Given the description of an element on the screen output the (x, y) to click on. 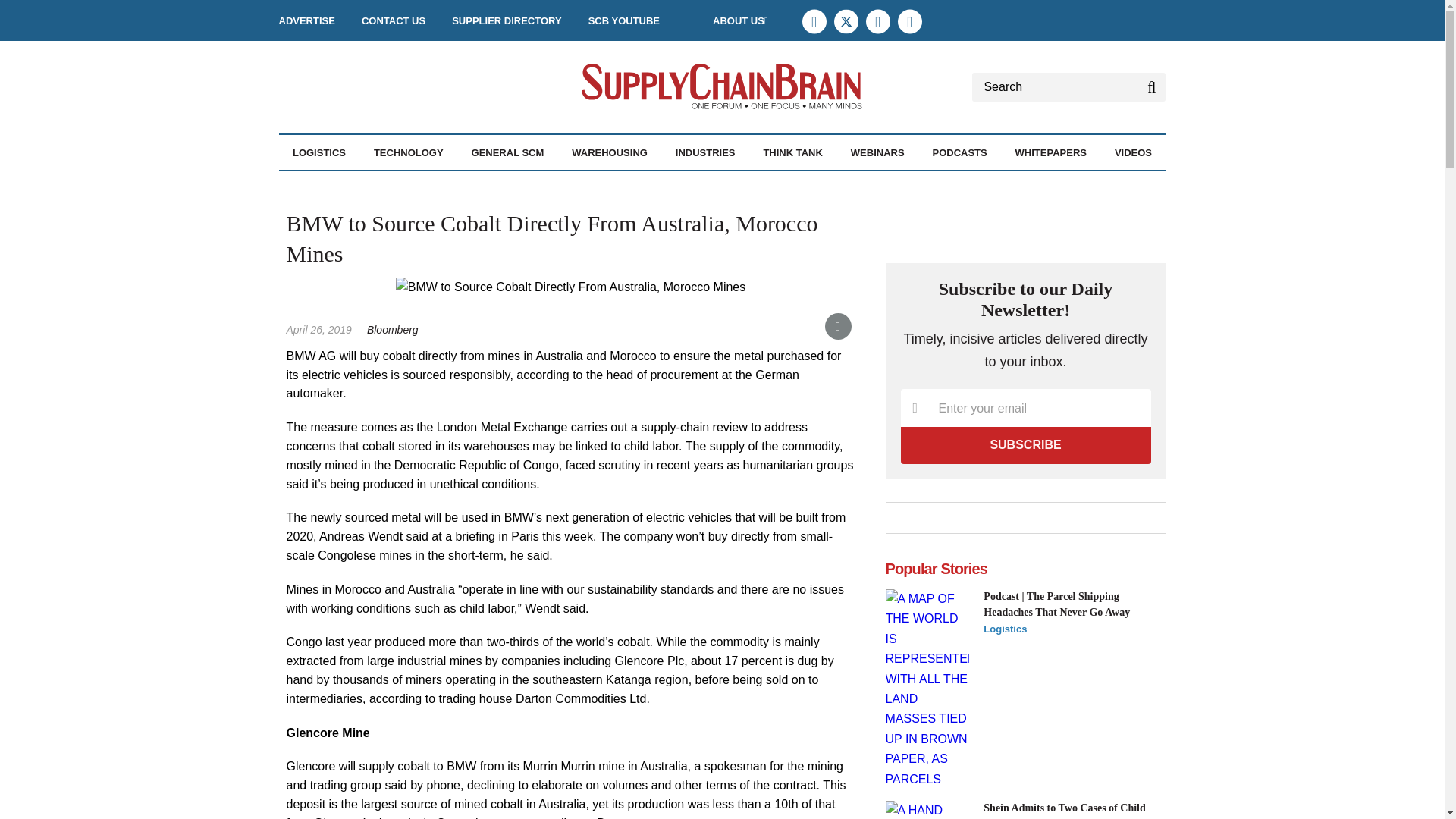
Last Mile Delivery (401, 184)
Ocean Transportation (407, 184)
All Technology (449, 184)
ABOUT US (740, 20)
Reverse Logistics (411, 184)
All Logistics (375, 184)
Subscribe (1026, 444)
Service Parts Management (413, 193)
ADVERTISE (306, 20)
